Given the description of an element on the screen output the (x, y) to click on. 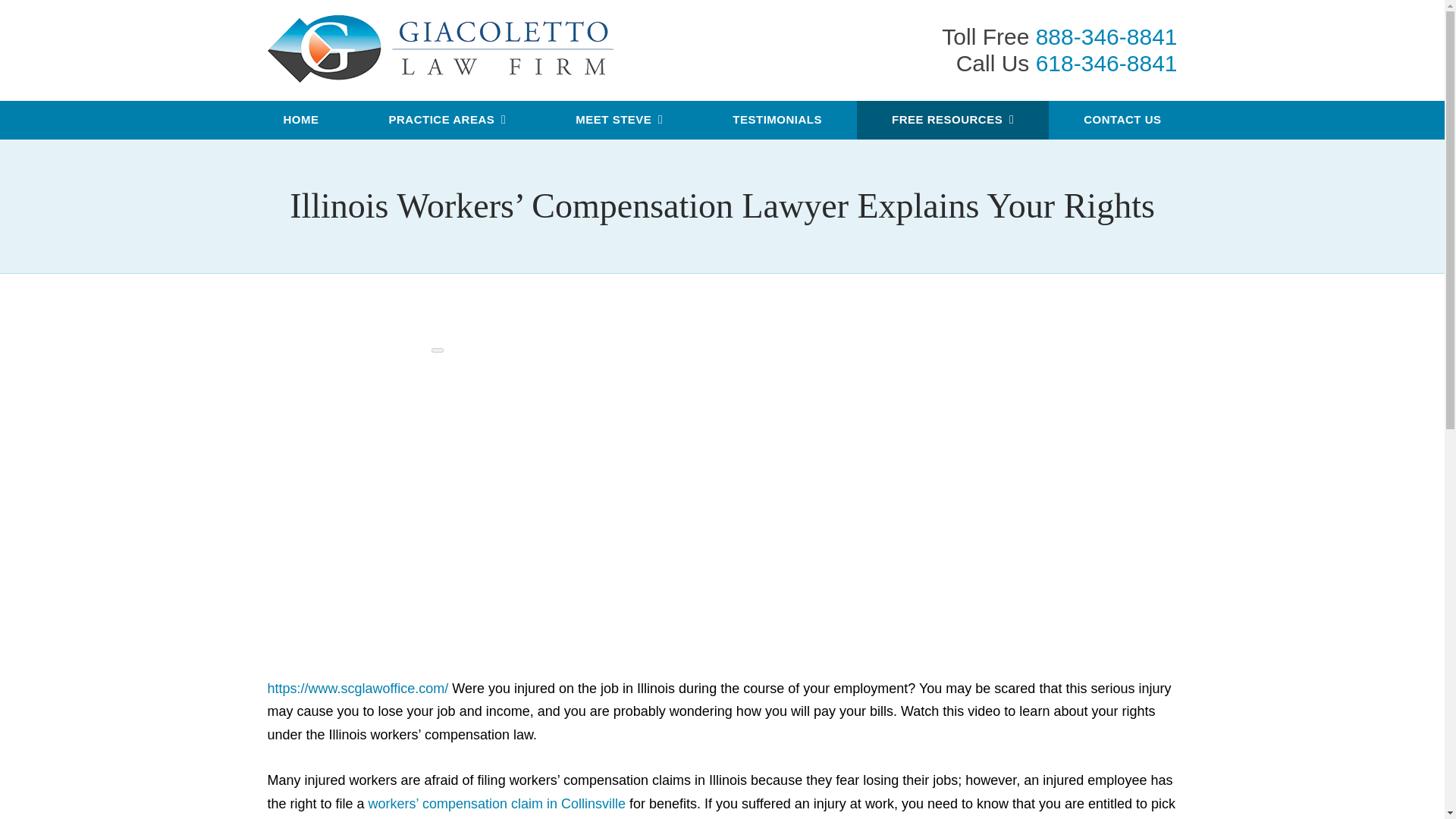
FREE RESOURCES (952, 119)
HOME (300, 119)
PRACTICE AREAS (446, 119)
CONTACT US (1121, 119)
MEET STEVE (618, 119)
TESTIMONIALS (777, 119)
